Given the description of an element on the screen output the (x, y) to click on. 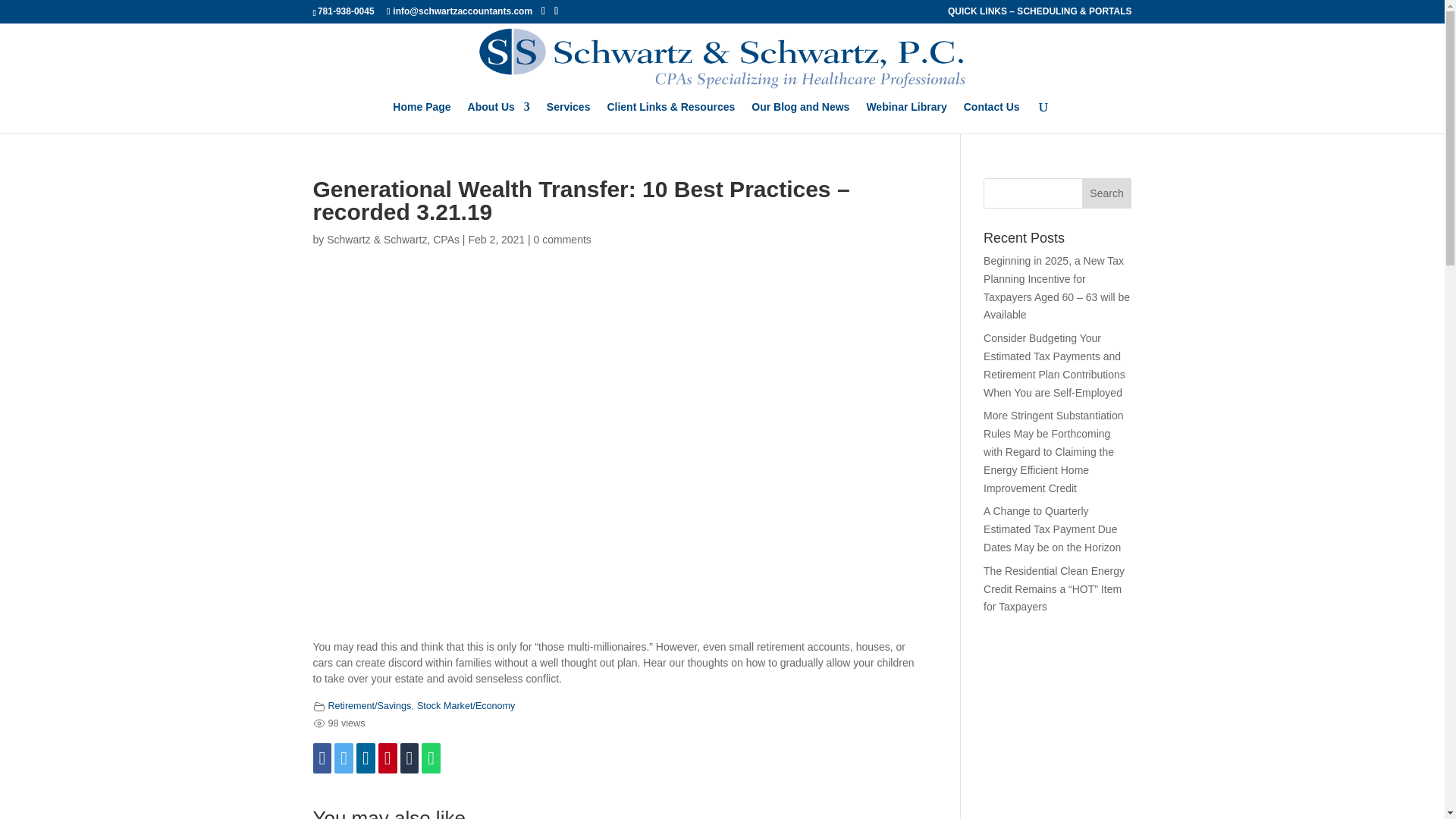
Webinar Library (906, 117)
Home Page (421, 117)
Contact Us (991, 117)
Our Blog and News (799, 117)
About Us (498, 117)
Services (569, 117)
0 comments (562, 239)
Search (1106, 193)
